Given the description of an element on the screen output the (x, y) to click on. 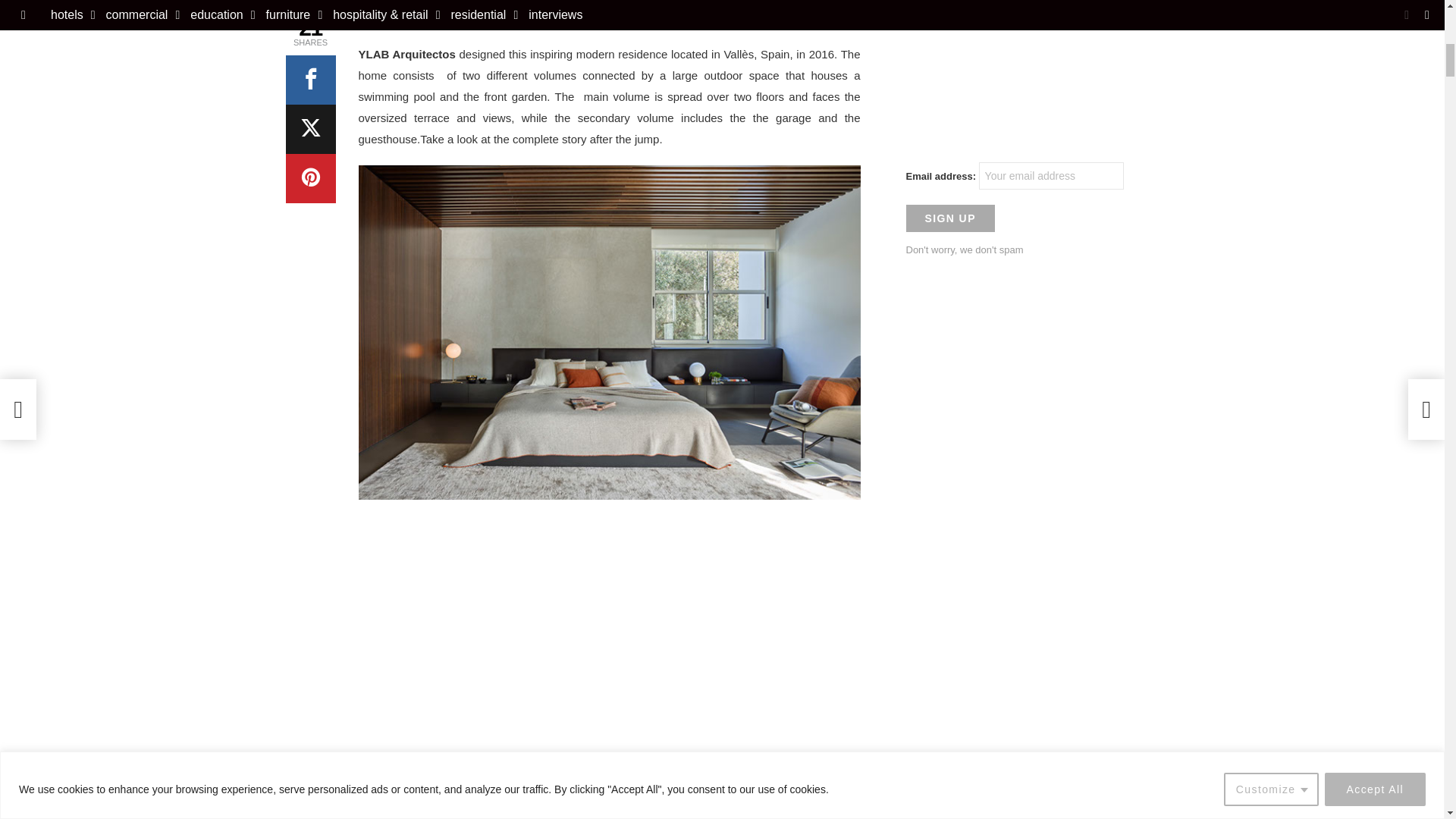
Sign up (949, 217)
